Given the description of an element on the screen output the (x, y) to click on. 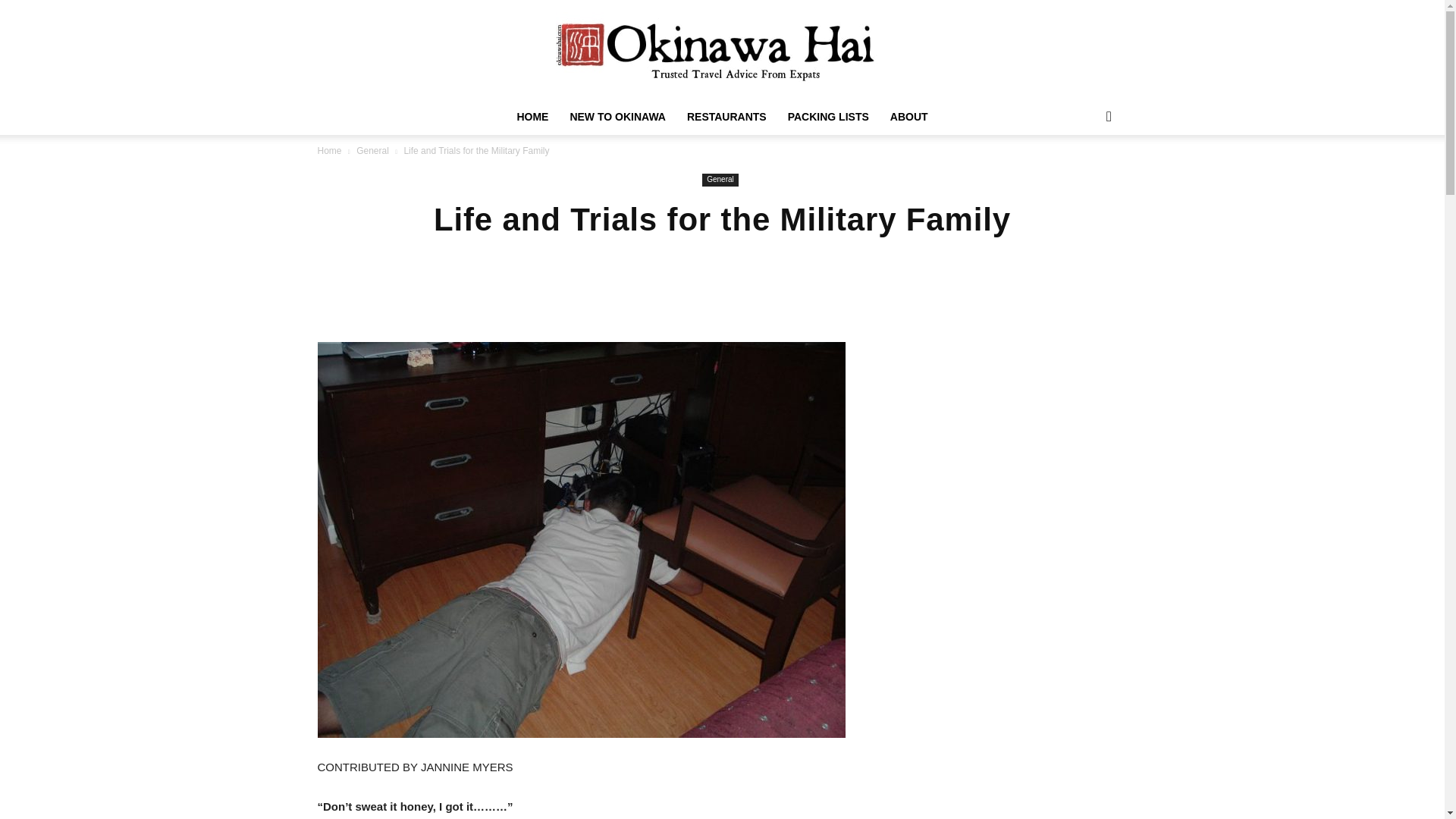
RESTAURANTS (727, 116)
NEW TO OKINAWA (618, 116)
General (372, 150)
General (719, 179)
Search (1085, 177)
Home (328, 150)
HOME (532, 116)
PACKING LISTS (828, 116)
ABOUT (909, 116)
